Given the description of an element on the screen output the (x, y) to click on. 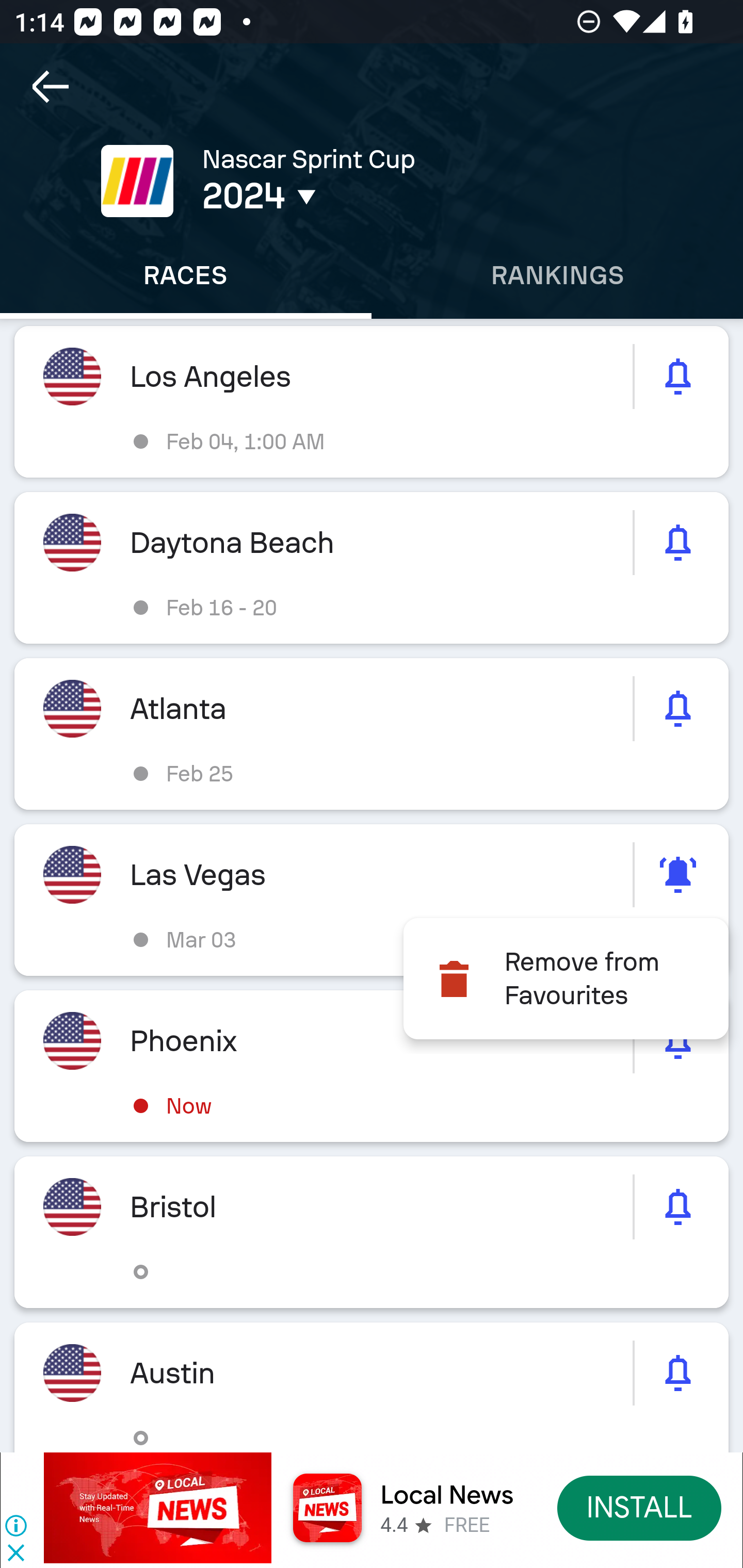
Remove from Favourites (565, 978)
